Given the description of an element on the screen output the (x, y) to click on. 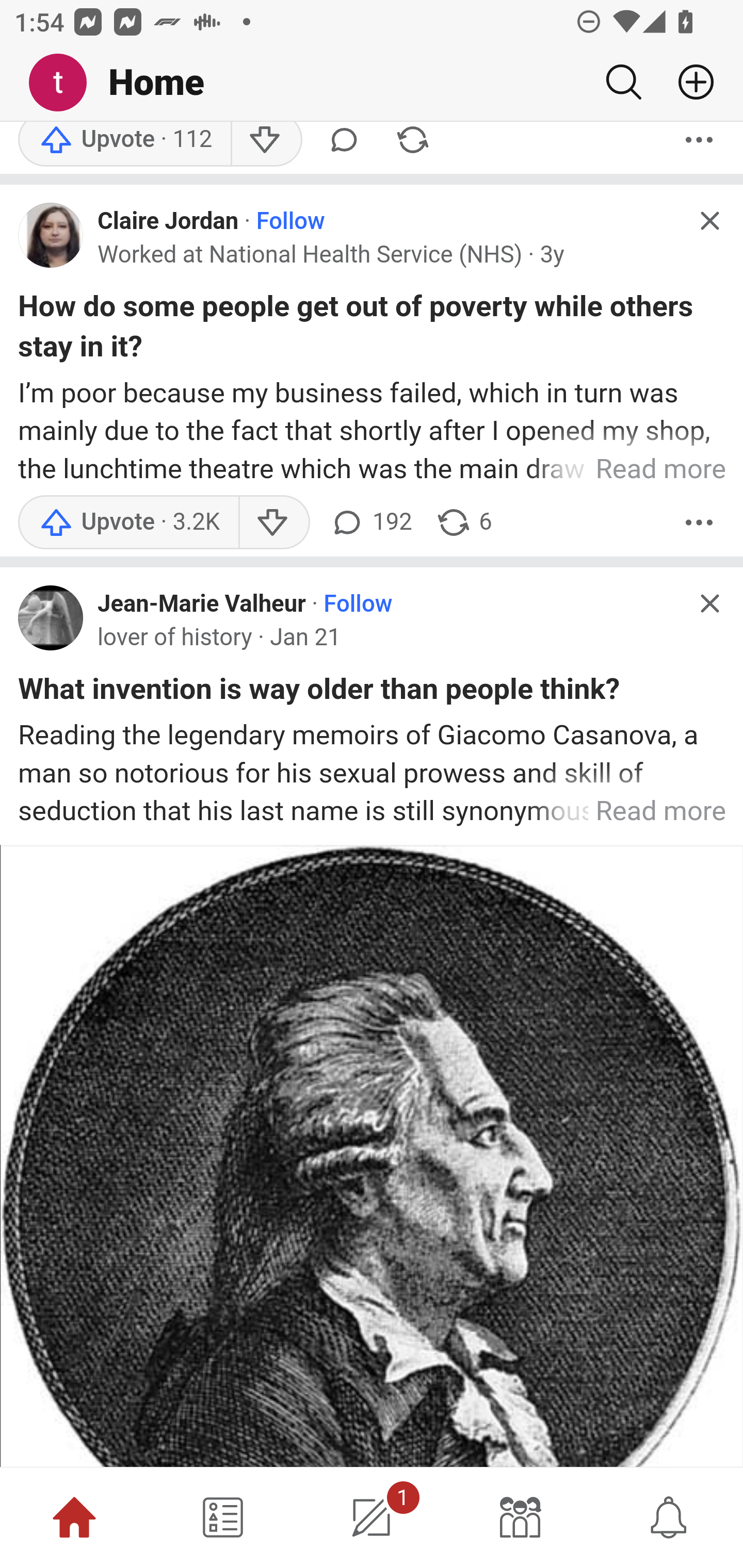
Me (64, 83)
Search (623, 82)
Add (688, 82)
Upvote (124, 145)
Downvote (266, 145)
Comment (343, 145)
Share (412, 145)
More (699, 145)
Hide (709, 221)
Profile photo for Claire Jordan (50, 235)
Claire Jordan (168, 221)
Follow (290, 221)
Upvote (127, 523)
Downvote (273, 523)
192 comments (369, 523)
6 shares (463, 523)
More (699, 523)
Hide (709, 604)
Profile photo for Jean-Marie Valheur (50, 618)
Jean-Marie Valheur (201, 606)
Follow (358, 606)
1 (371, 1517)
